Given the description of an element on the screen output the (x, y) to click on. 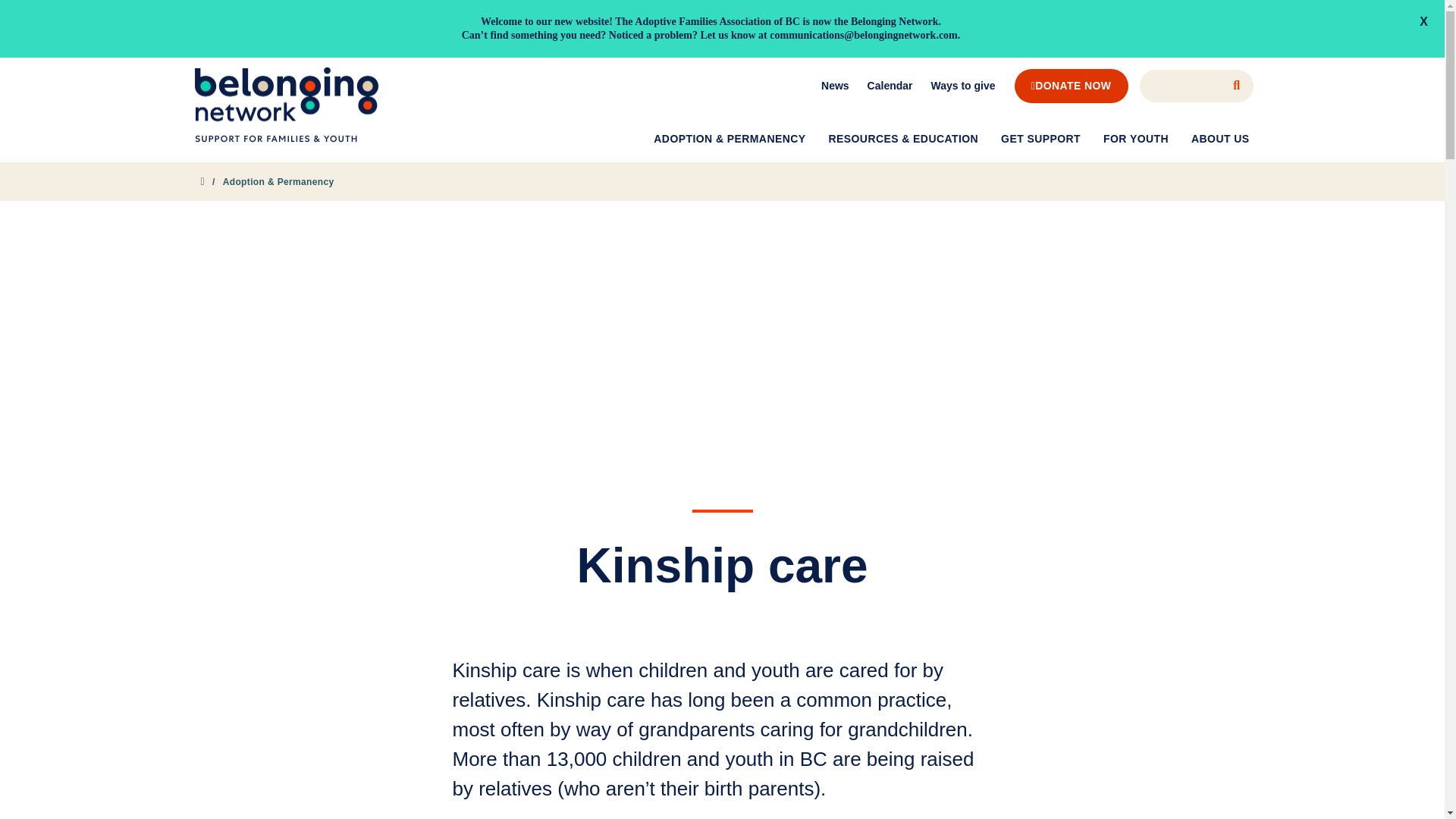
Ways to give (963, 85)
News (835, 85)
GET SUPPORT (1040, 139)
Calendar (890, 85)
DONATE NOW (1071, 85)
